Given the description of an element on the screen output the (x, y) to click on. 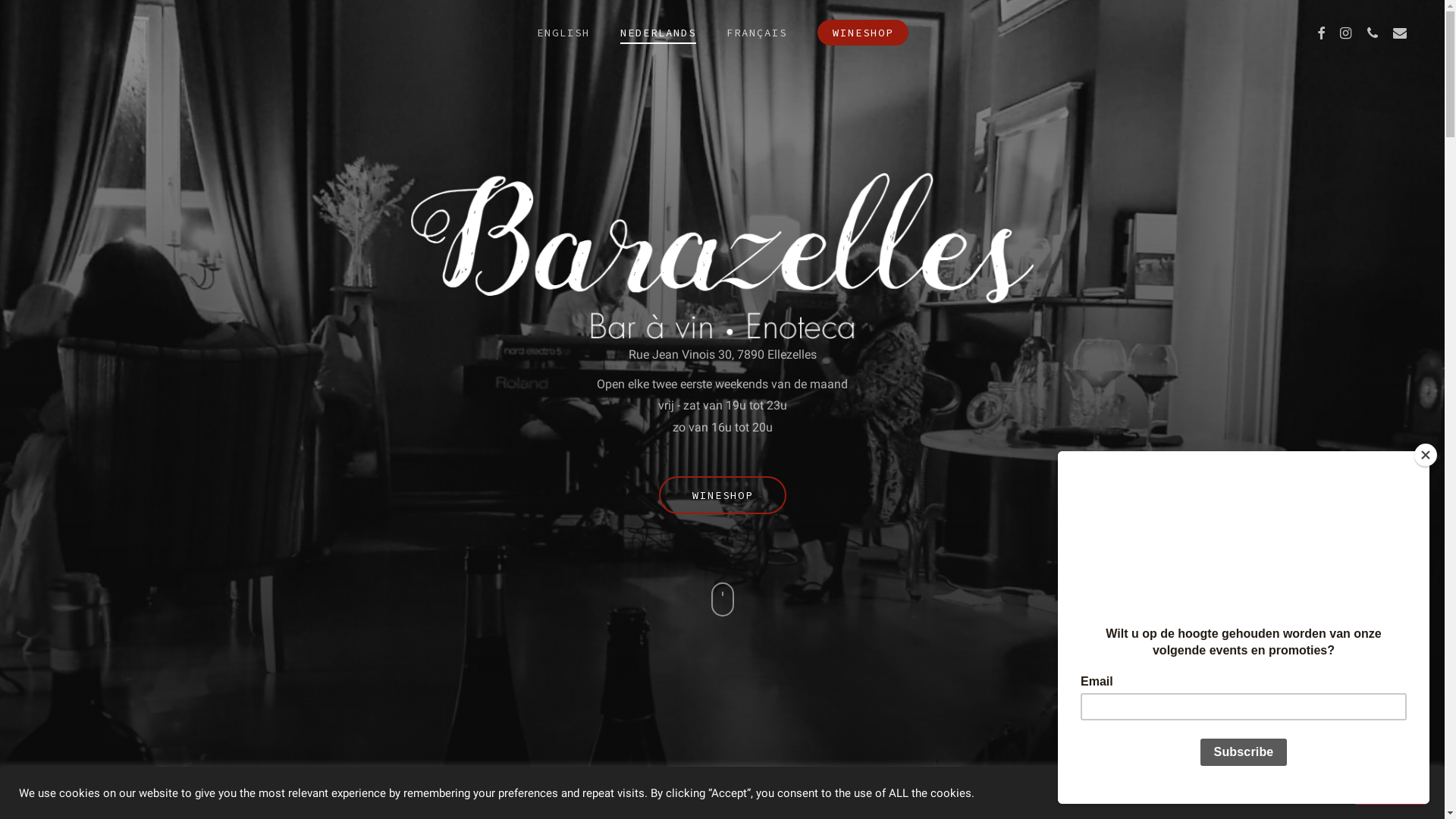
ENGLISH Element type: text (562, 32)
WINESHOP Element type: text (862, 32)
ACCEPTEER Element type: text (1390, 792)
WINESHOP Element type: text (721, 495)
EMAIL Element type: text (1399, 32)
NEDERLANDS Element type: text (658, 32)
PHONE Element type: text (1372, 32)
facebook Element type: text (642, 709)
Cookie settings Element type: text (1303, 792)
Navigate to the next section Element type: text (721, 609)
phone Element type: text (748, 709)
INSTAGRAM Element type: text (1344, 32)
instagram Element type: text (695, 709)
FACEBOOK Element type: text (1320, 32)
email Element type: text (801, 709)
